Given the description of an element on the screen output the (x, y) to click on. 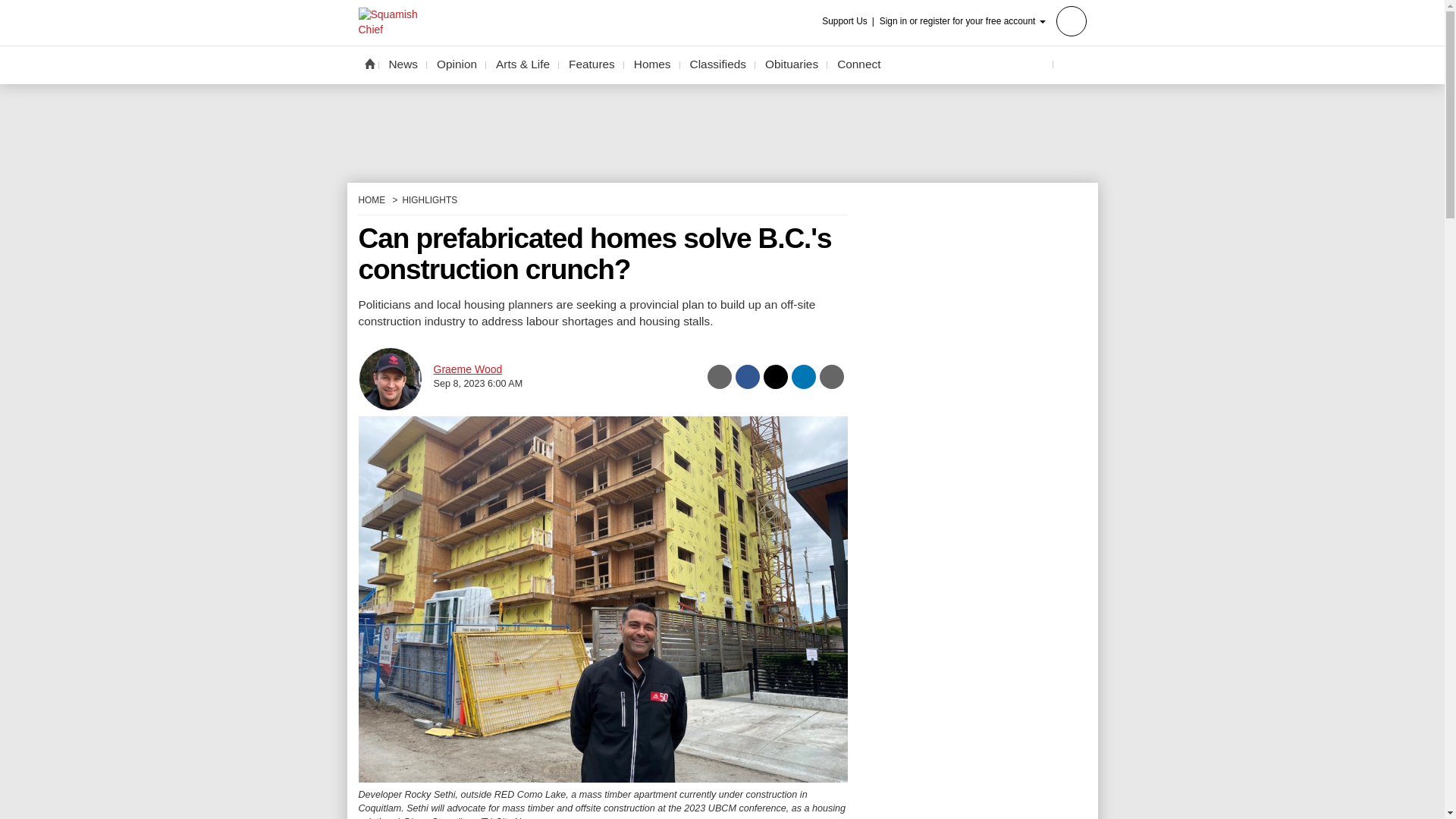
Home (368, 63)
Support Us (849, 21)
Opinion (456, 64)
Sign in or register for your free account (982, 20)
News (403, 64)
